Given the description of an element on the screen output the (x, y) to click on. 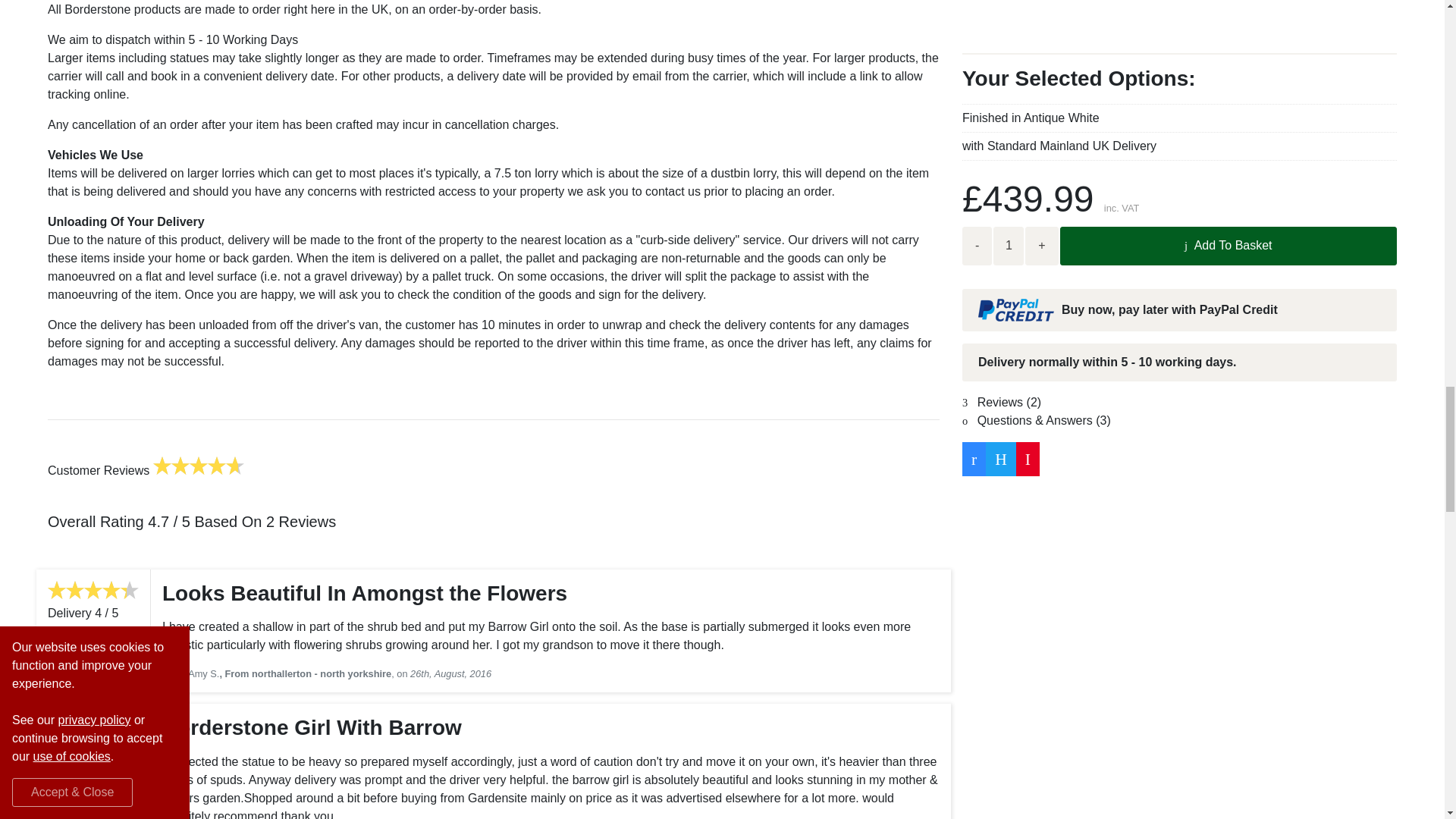
Review Date (451, 673)
